Given the description of an element on the screen output the (x, y) to click on. 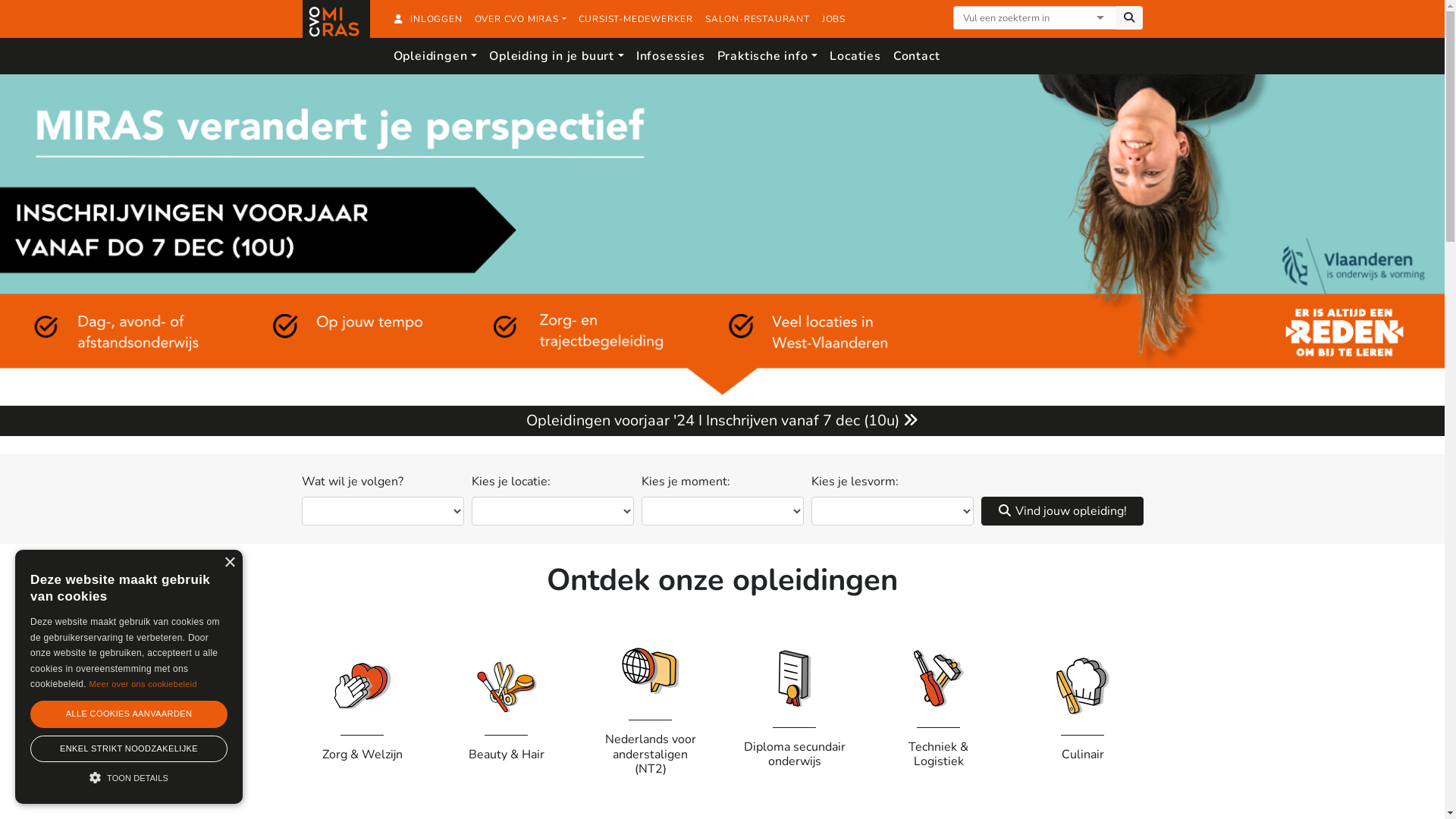
  INLOGGEN Element type: text (426, 18)
Contact Element type: text (916, 55)
Locaties Element type: text (854, 55)
Opleiding in je buurt Element type: text (556, 55)
Opleidingen voorjaar '24 I Inschrijven vanaf 7 dec (10u) Element type: text (722, 420)
JOBS Element type: text (833, 18)
Opleidingen Element type: text (434, 55)
Vind jouw opleiding! Element type: text (1062, 510)
Beauty & Hair Element type: text (506, 705)
cvo MIRAS Element type: hover (335, 34)
Meer over ons cookiebeleid Element type: text (143, 683)
SALON-RESTAURANT Element type: text (757, 18)
OVER CVO MIRAS Element type: text (520, 18)
CURSIST-MEDEWERKER Element type: text (635, 18)
Infosessies Element type: text (670, 55)
Praktische info Element type: text (767, 55)
